Given the description of an element on the screen output the (x, y) to click on. 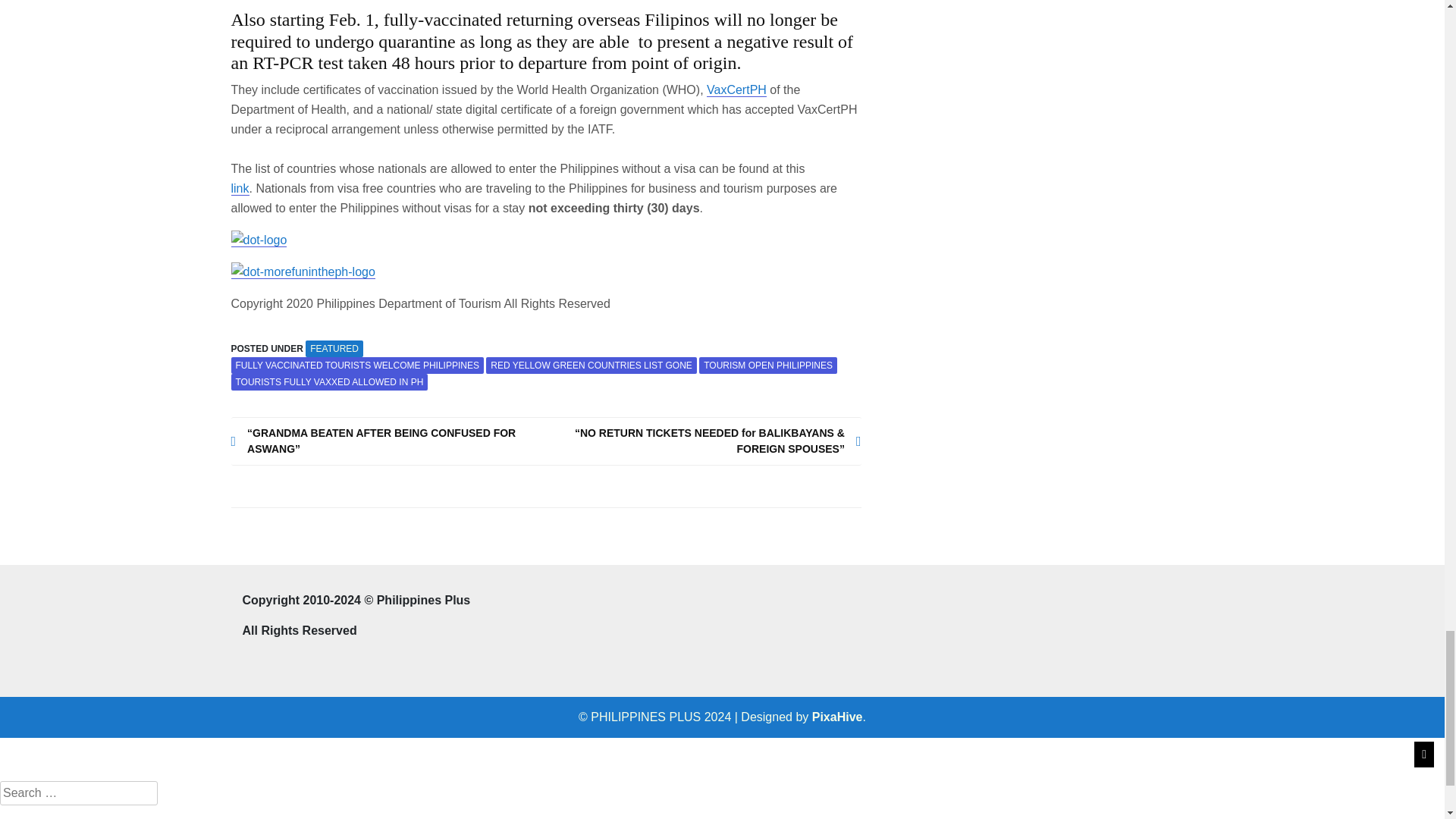
TOURISM OPEN PHILIPPINES (767, 365)
FEATURED (333, 348)
RED YELLOW GREEN COUNTRIES LIST GONE (591, 365)
FULLY VACCINATED TOURISTS WELCOME PHILIPPINES (356, 365)
TOURISTS FULLY VAXXED ALLOWED IN PH (329, 381)
link (517, 198)
PixaHive (837, 716)
VaxCertPH (736, 90)
